Given the description of an element on the screen output the (x, y) to click on. 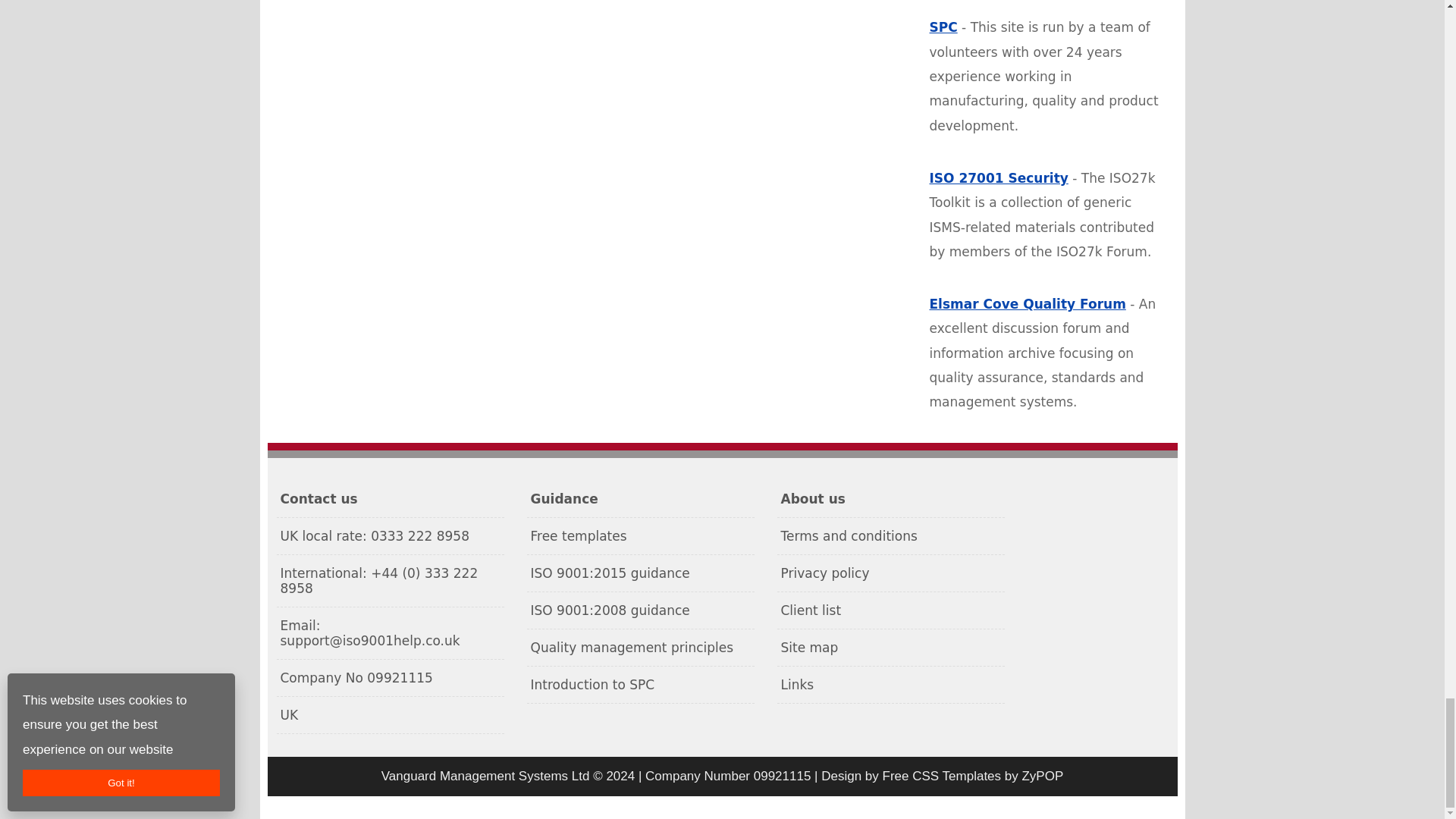
ISO 27001 Security (999, 177)
SPC (944, 27)
Elsmar Cove Quality Forum (1027, 304)
